Given the description of an element on the screen output the (x, y) to click on. 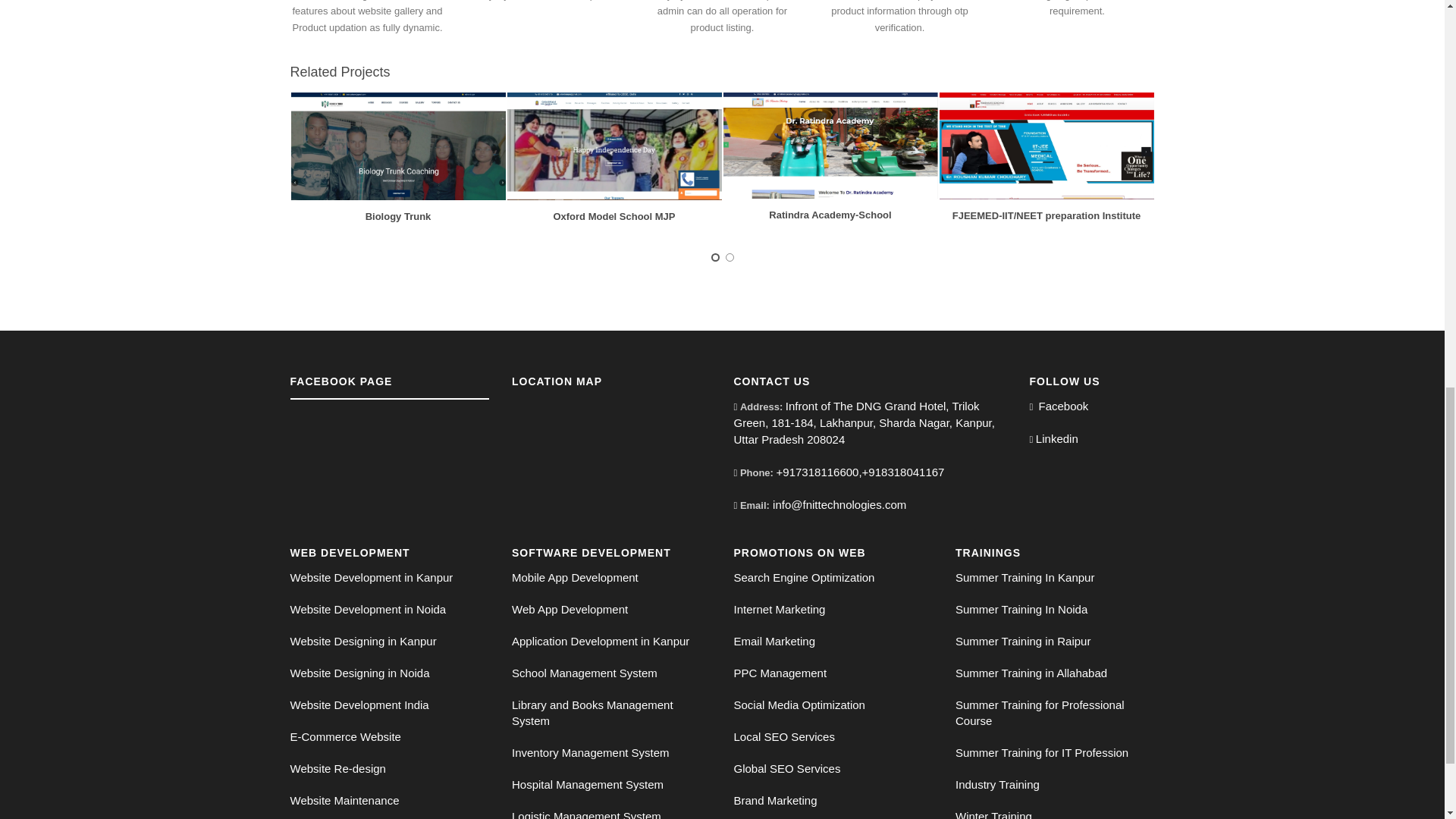
Linkedin (1056, 439)
Ratindra Academy-School (829, 214)
Facebook Link (1062, 406)
Oxford Model School MJP (614, 215)
Linkedin Link (1056, 439)
Biology Trunk (397, 215)
Facebook (1062, 406)
